Given the description of an element on the screen output the (x, y) to click on. 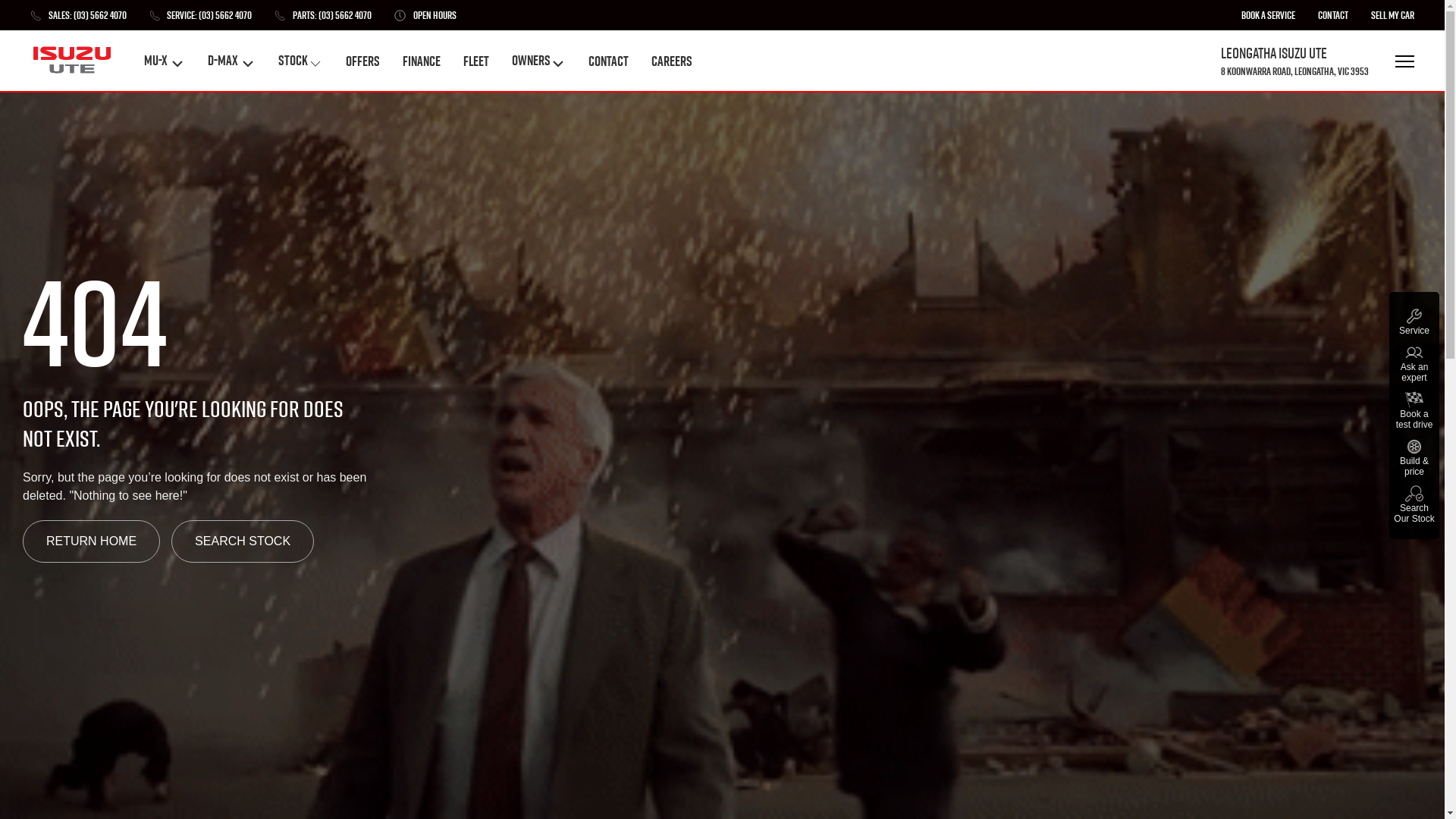
Ask an expert Element type: text (1414, 362)
Contact Element type: text (1332, 15)
Leongatha Isuzu Ute
8 Koonwarra Road, Leongatha, VIC 3953 Element type: text (1294, 60)
D-MAX
D-MAX Element type: text (231, 60)
Book a test drive Element type: text (1414, 409)
Book a Service Element type: text (1268, 15)
Offers Element type: text (362, 60)
Parts: (03) 5662 4070 Element type: text (322, 15)
Finance Element type: text (421, 60)
MU-X
MU-X Element type: text (164, 60)
Service Element type: text (1414, 321)
Service: (03) 5662 4070 Element type: text (199, 15)
Open Hours Element type: text (425, 15)
Sales: (03) 5662 4070 Element type: text (78, 15)
OWNERS Element type: text (538, 60)
SEARCH STOCK Element type: text (242, 541)
STOCK Element type: text (300, 60)
Fleet Element type: text (476, 60)
More Element type: hover (1402, 60)
Sell My Car Element type: text (1392, 15)
Build & price Element type: text (1414, 456)
RETURN HOME Element type: text (91, 541)
Search Our Stock Element type: text (1414, 504)
Careers Element type: text (671, 60)
Contact Element type: text (608, 60)
